Given the description of an element on the screen output the (x, y) to click on. 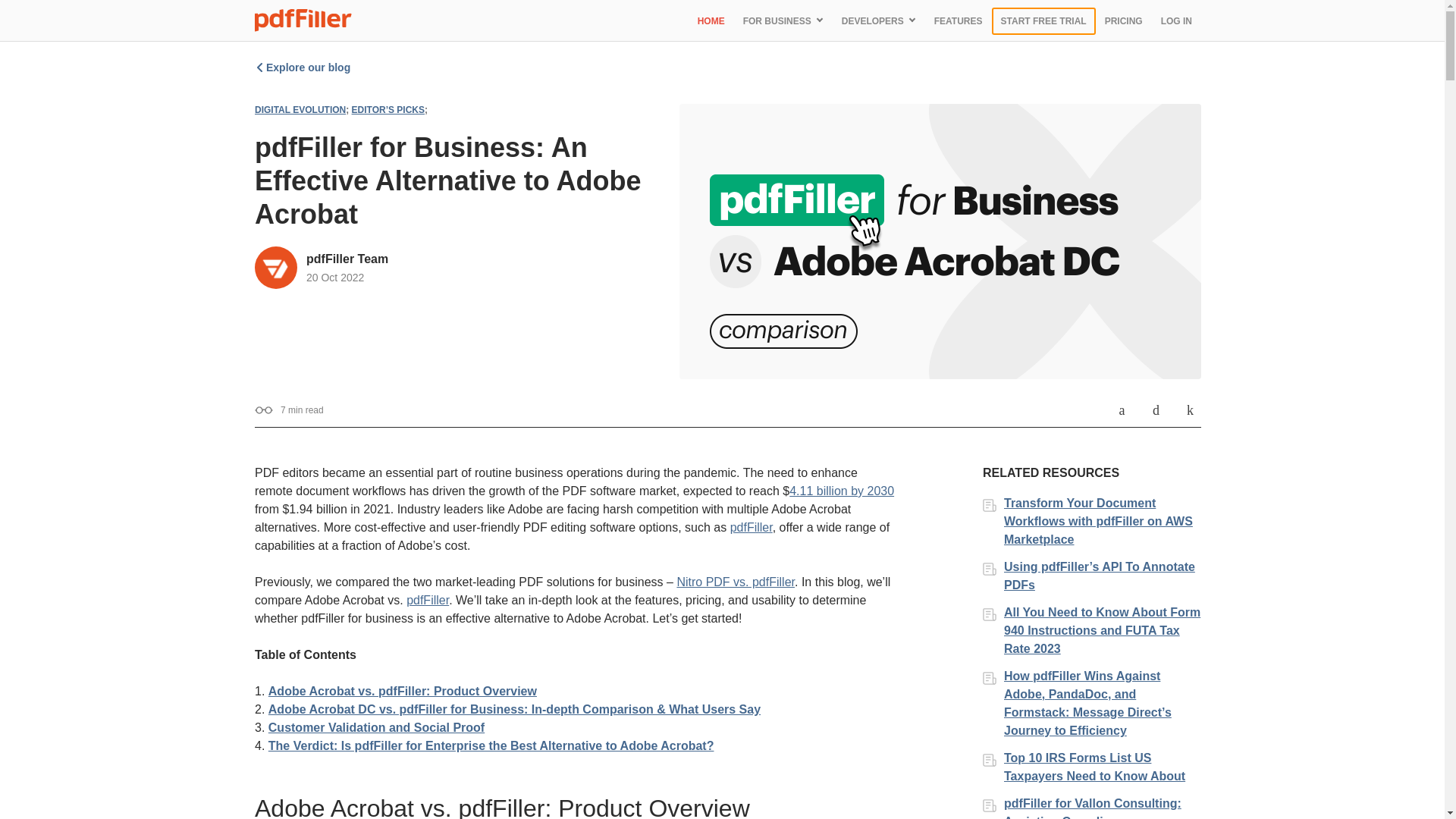
Adobe Acrobat vs. pdfFiller: Product Overview (402, 690)
Share on LinkedIn (1190, 409)
Nitro PDF vs. pdfFiller (735, 581)
pdfFiller (427, 599)
HOME (710, 20)
4.11 billion by 2030 (841, 490)
DIGITAL EVOLUTION (300, 109)
pdfFiller (751, 526)
Explore our blog (303, 67)
